Given the description of an element on the screen output the (x, y) to click on. 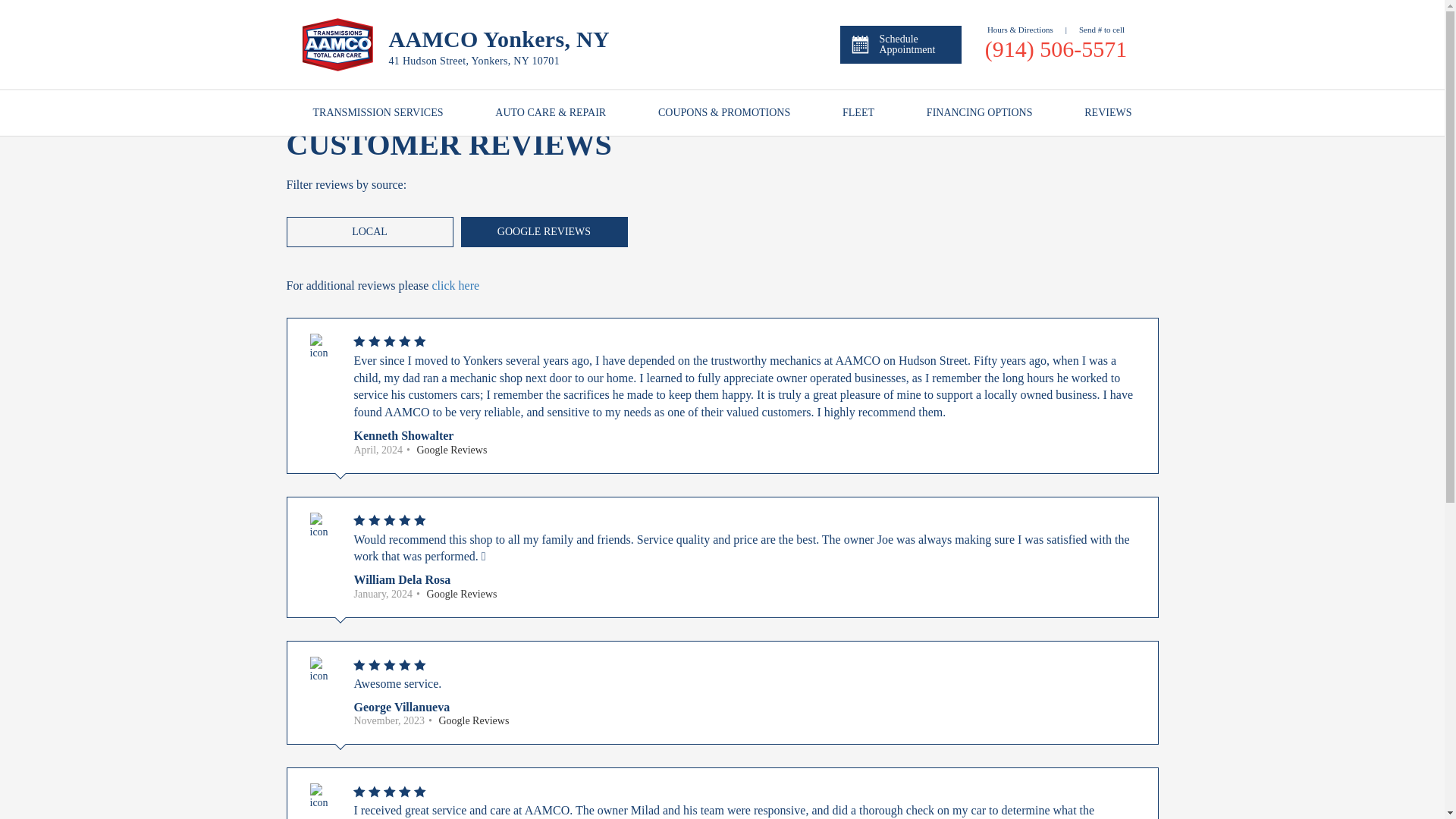
click here (454, 285)
Schedule Appointment (900, 44)
FINANCING OPTIONS (979, 112)
REVIEWS (1107, 112)
FLEET (859, 112)
TRANSMISSION SERVICES (377, 112)
